Given the description of an element on the screen output the (x, y) to click on. 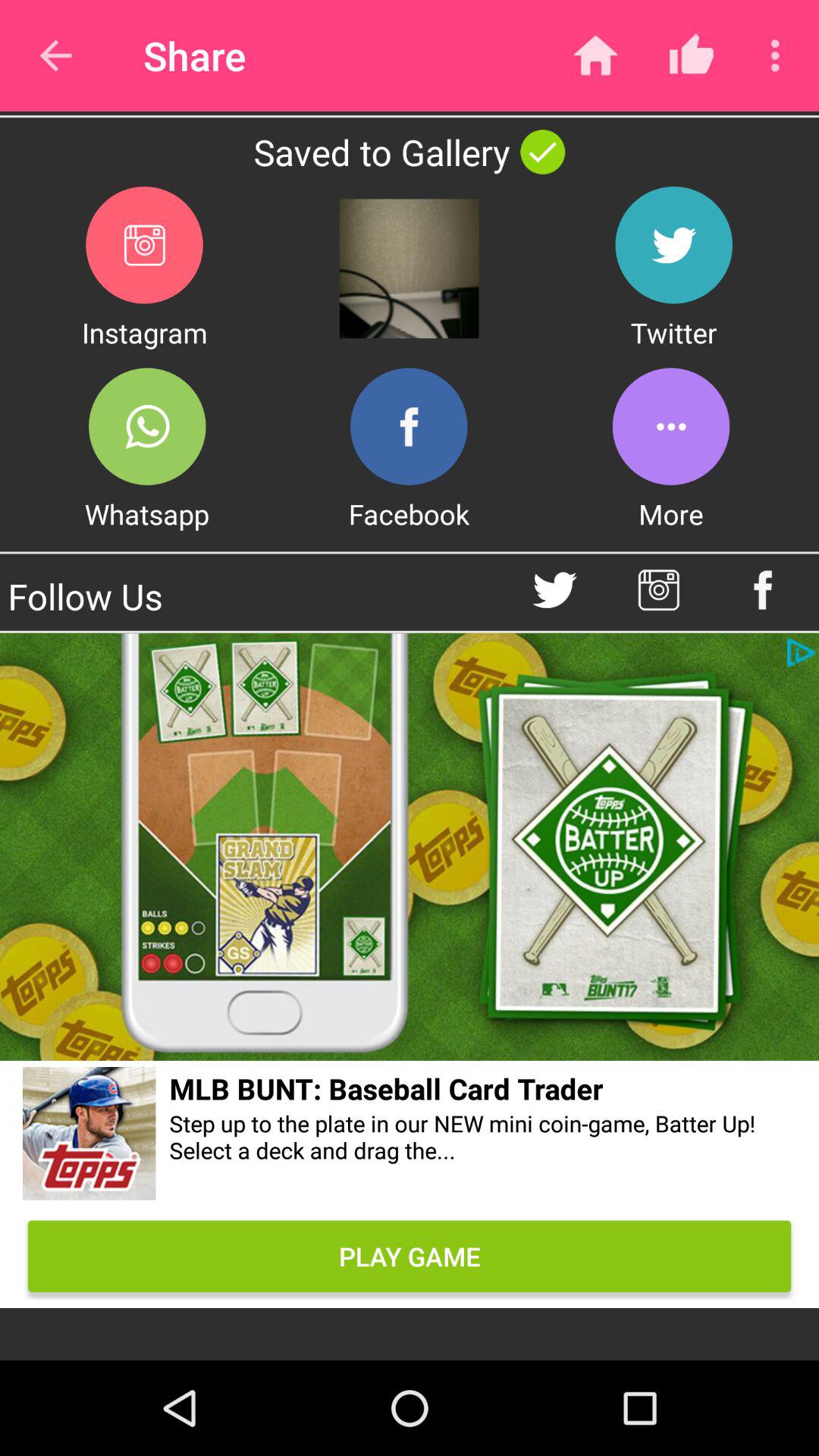
more options (670, 426)
